Given the description of an element on the screen output the (x, y) to click on. 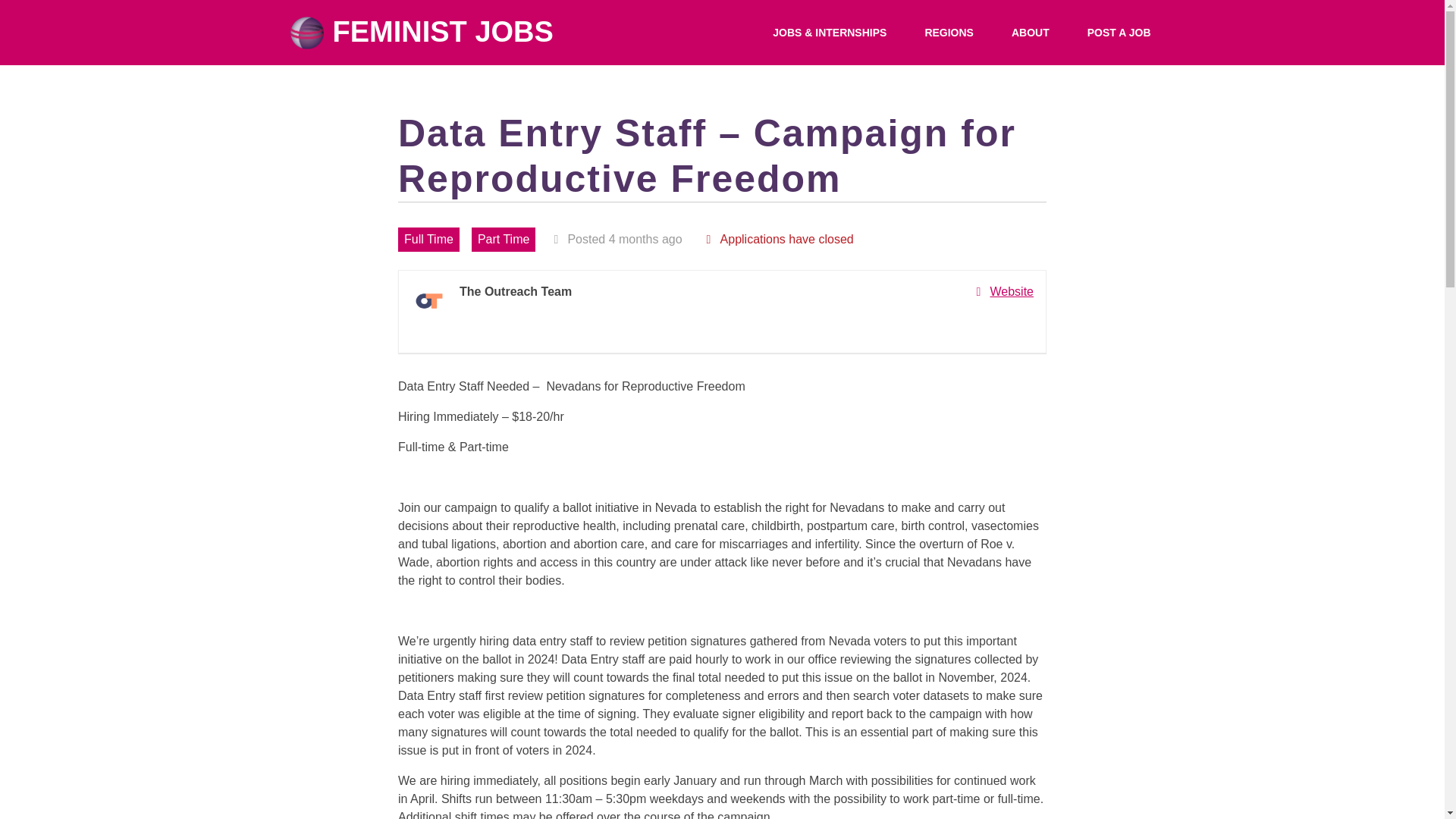
REGIONS (948, 32)
ABOUT (1029, 32)
FEMINIST JOBS (421, 32)
Website (1004, 291)
POST A JOB (1118, 32)
